Given the description of an element on the screen output the (x, y) to click on. 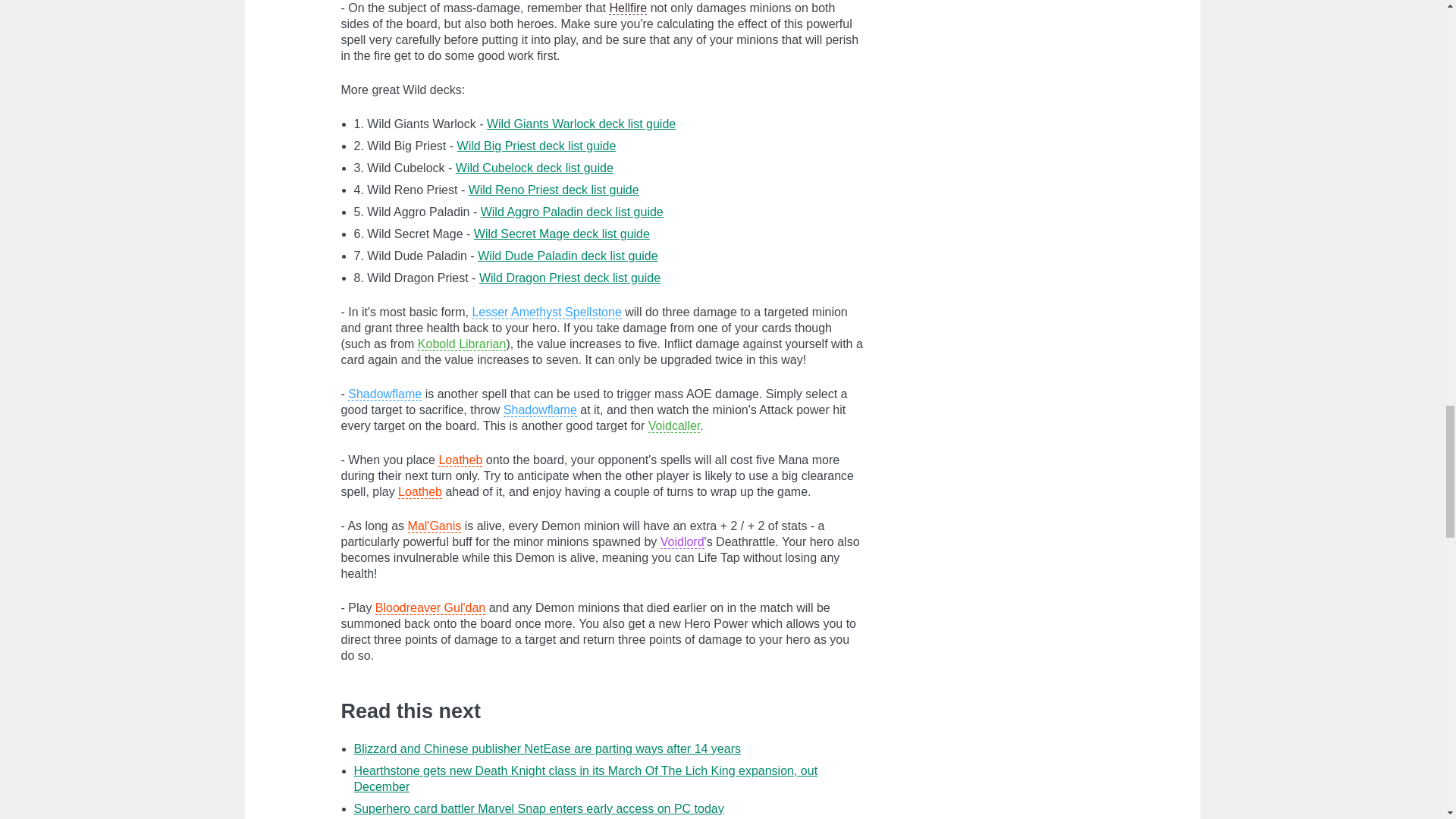
Wild Cubelock deck list guide (533, 167)
Wild Secret Mage deck list guide (561, 233)
Wild Aggro Paladin deck list guide (571, 211)
Wild Reno Priest deck list guide (553, 189)
Wild Giants Warlock deck list guide (580, 123)
Wild Big Priest deck list guide (536, 145)
